Given the description of an element on the screen output the (x, y) to click on. 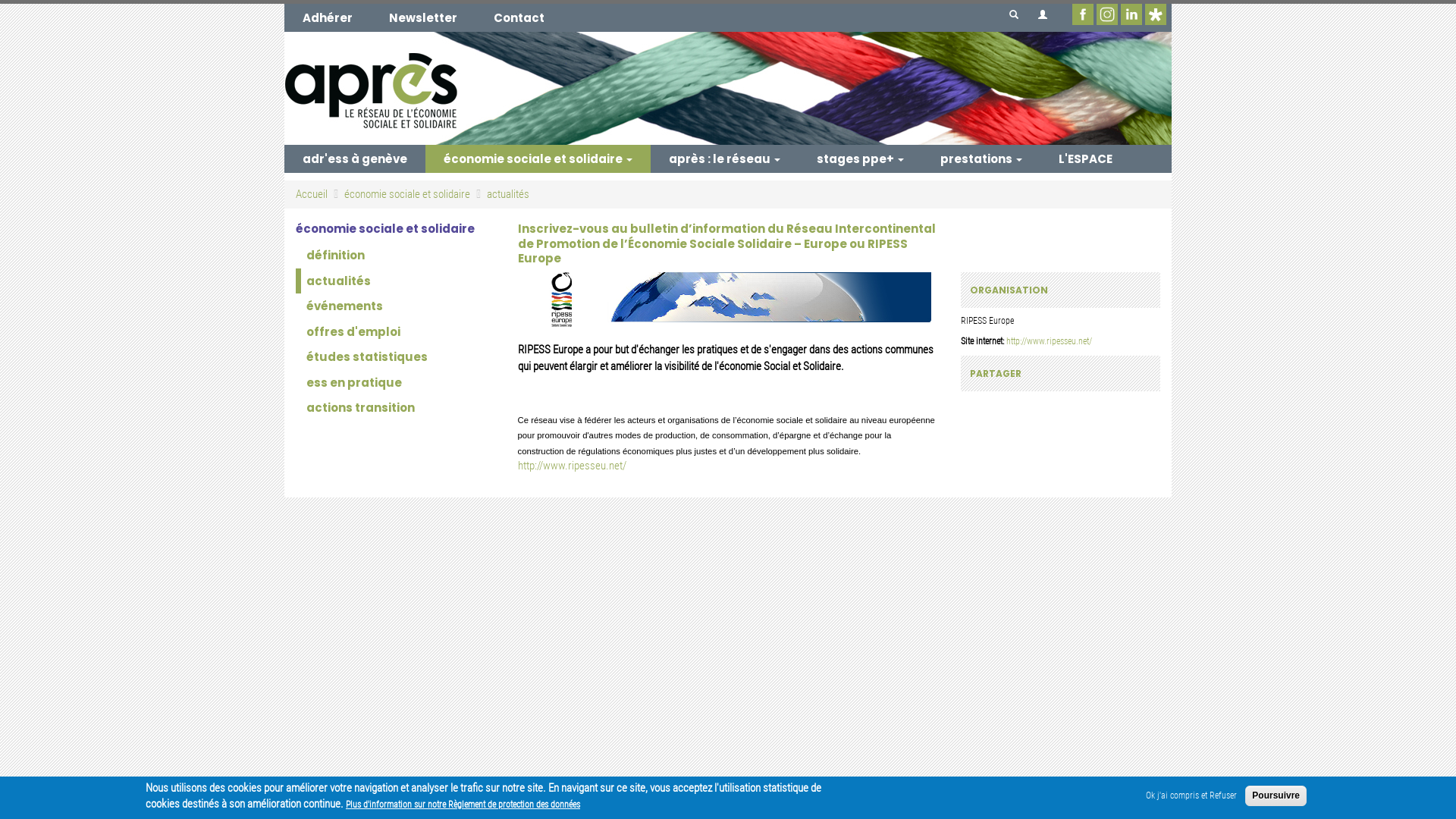
http://www.ripesseu.net/ Element type: text (571, 465)
Accueil Element type: text (311, 193)
Contact Element type: text (518, 17)
Newsletter Element type: text (422, 17)
ess en pratique Element type: text (395, 382)
offres d'emploi Element type: text (395, 331)
http://www.ripesseu.net/ Element type: text (1049, 340)
Poursuivre Element type: text (1275, 795)
prestations Element type: text (981, 158)
Aller au contenu principal Element type: text (0, 0)
Accueil Element type: hover (727, 87)
actions transition Element type: text (395, 407)
Ok j'ai compris et Refuser Element type: text (1190, 795)
L'ESPACE Element type: text (1085, 158)
stages ppe+ Element type: text (860, 158)
